Given the description of an element on the screen output the (x, y) to click on. 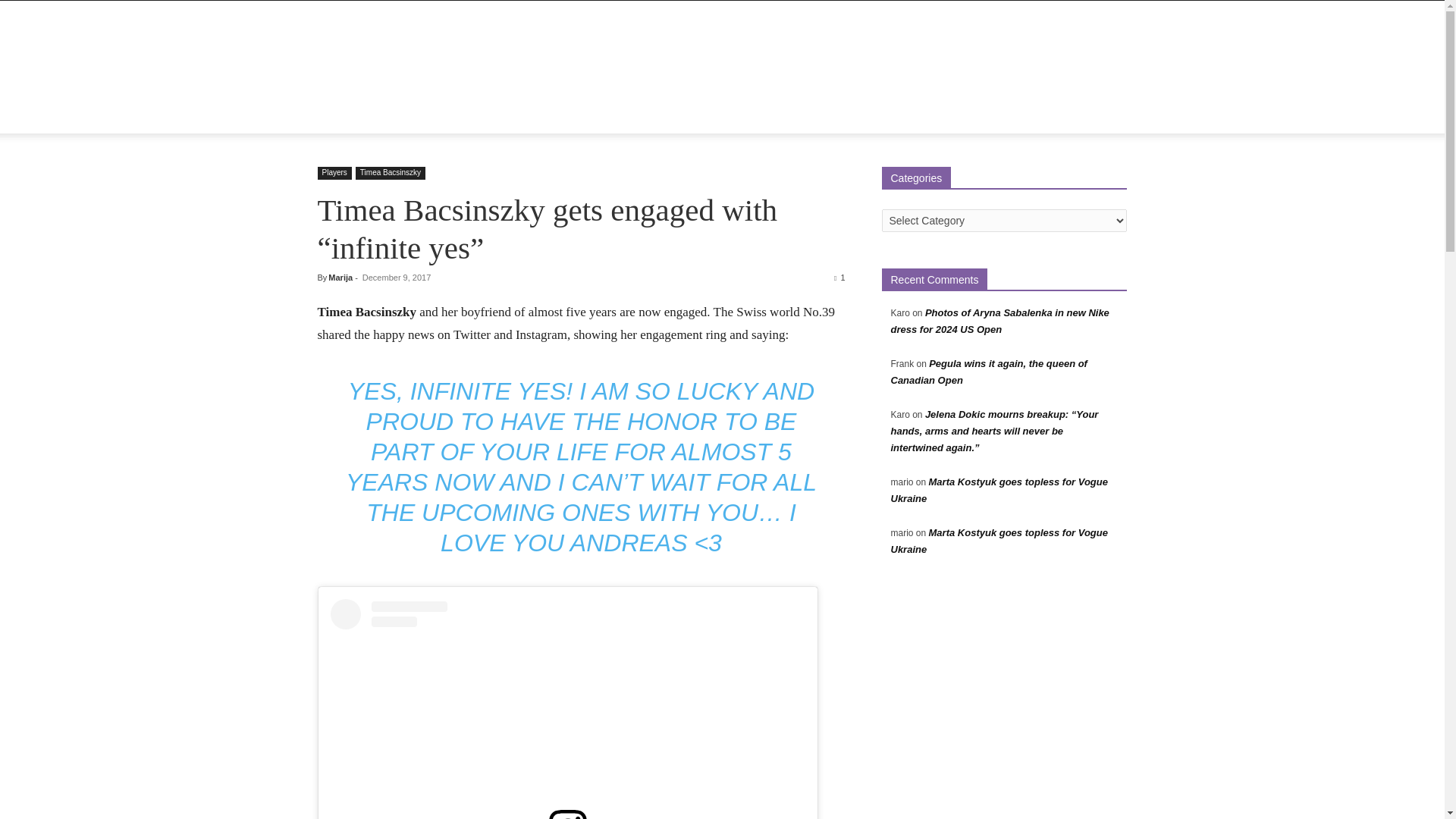
Contact Us (659, 115)
Search (1085, 175)
About (389, 115)
Home (341, 115)
Featured (445, 115)
Subscribe (728, 115)
